Given the description of an element on the screen output the (x, y) to click on. 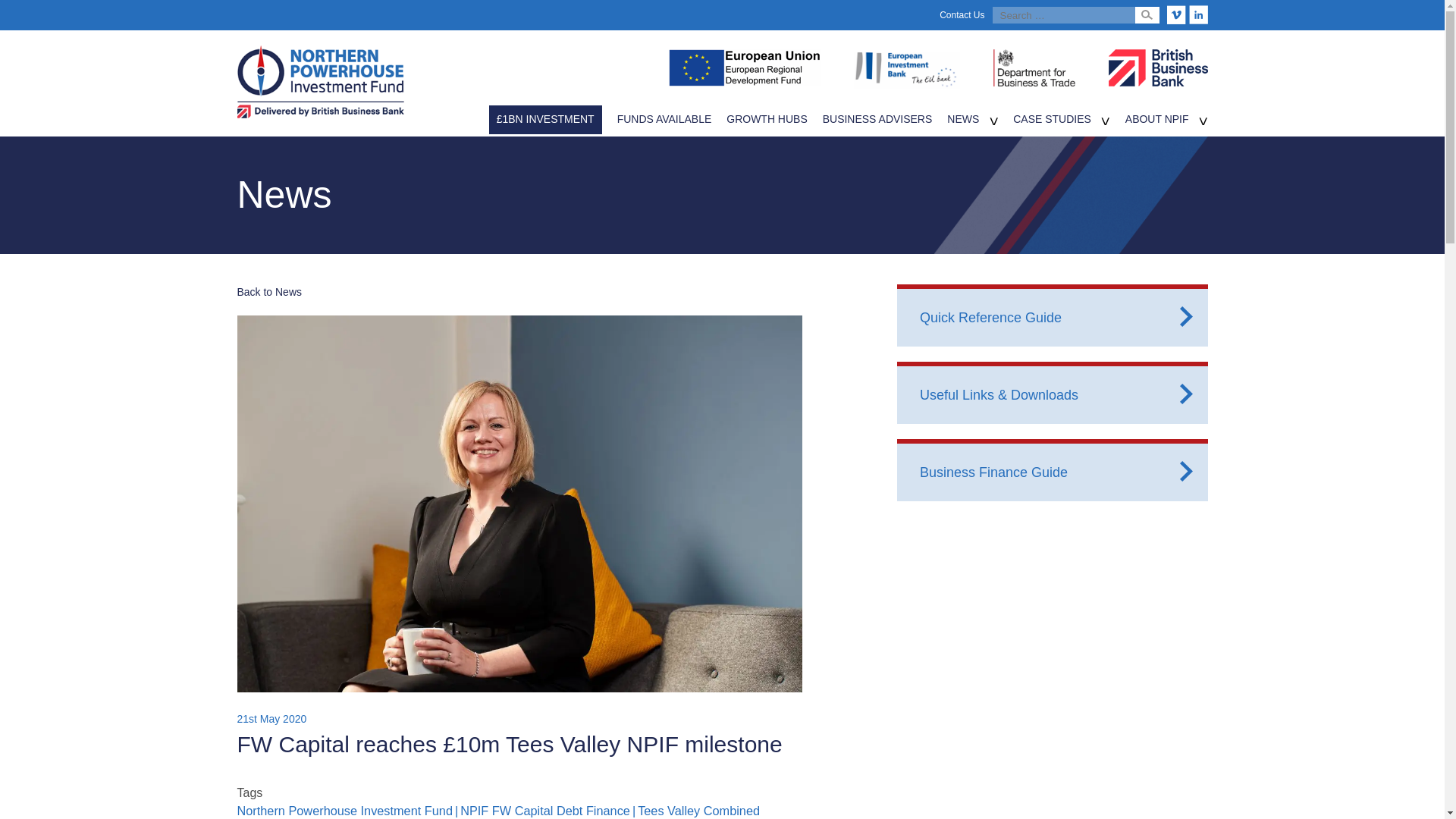
BUSINESS ADVISERS (877, 119)
CASE STUDIES (1051, 119)
NEWS (962, 119)
FUNDS AVAILABLE (664, 119)
GROWTH HUBS (766, 119)
ABOUT NPIF (1157, 119)
Contact Us (961, 14)
